Given the description of an element on the screen output the (x, y) to click on. 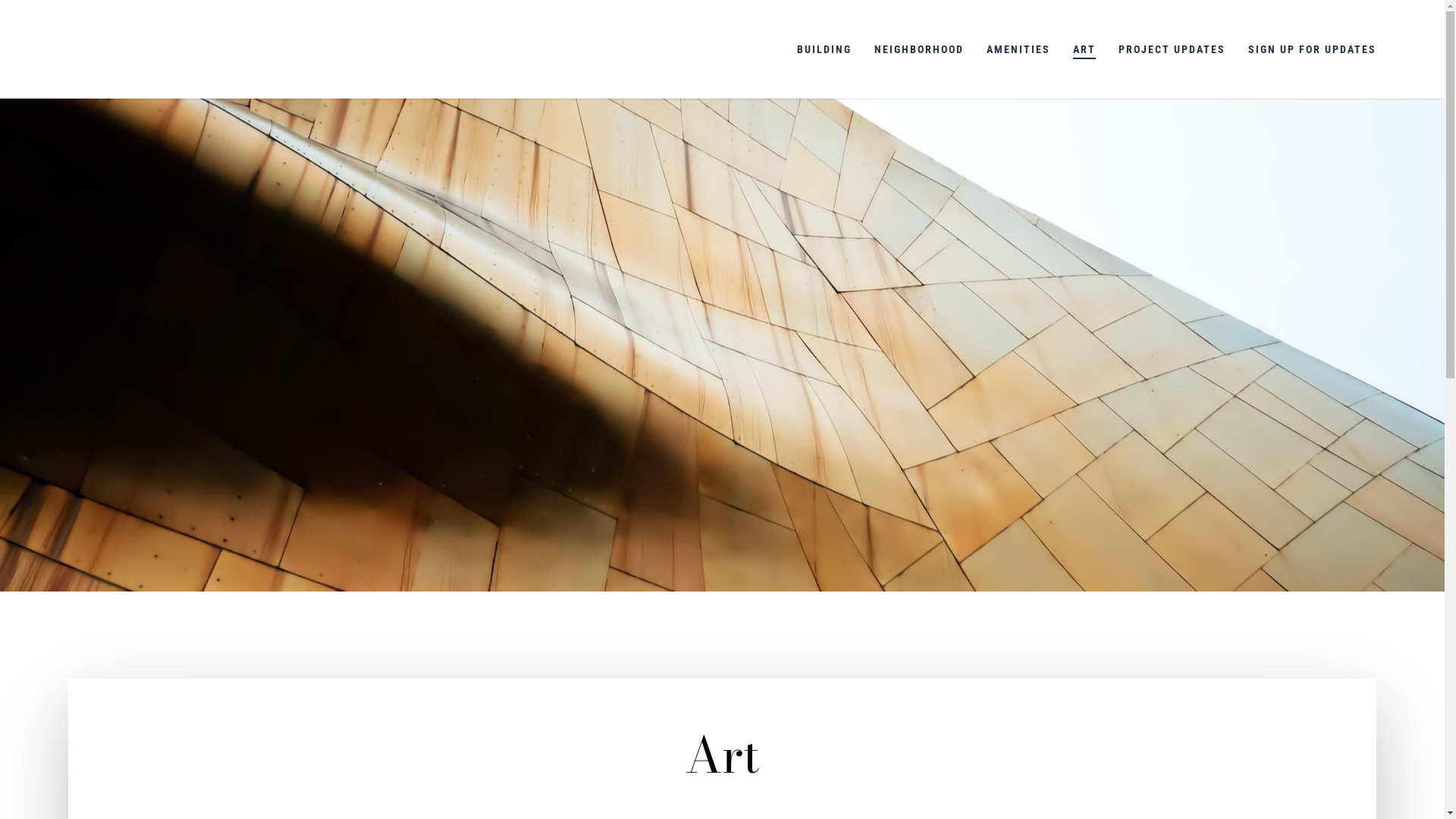
ART Element type: text (1084, 48)
PROJECT UPDATES Element type: text (1171, 48)
SIGN UP FOR UPDATES Element type: text (1312, 48)
BUILDING Element type: text (824, 48)
NEIGHBORHOOD Element type: text (918, 48)
AMENITIES Element type: text (1018, 48)
